Given the description of an element on the screen output the (x, y) to click on. 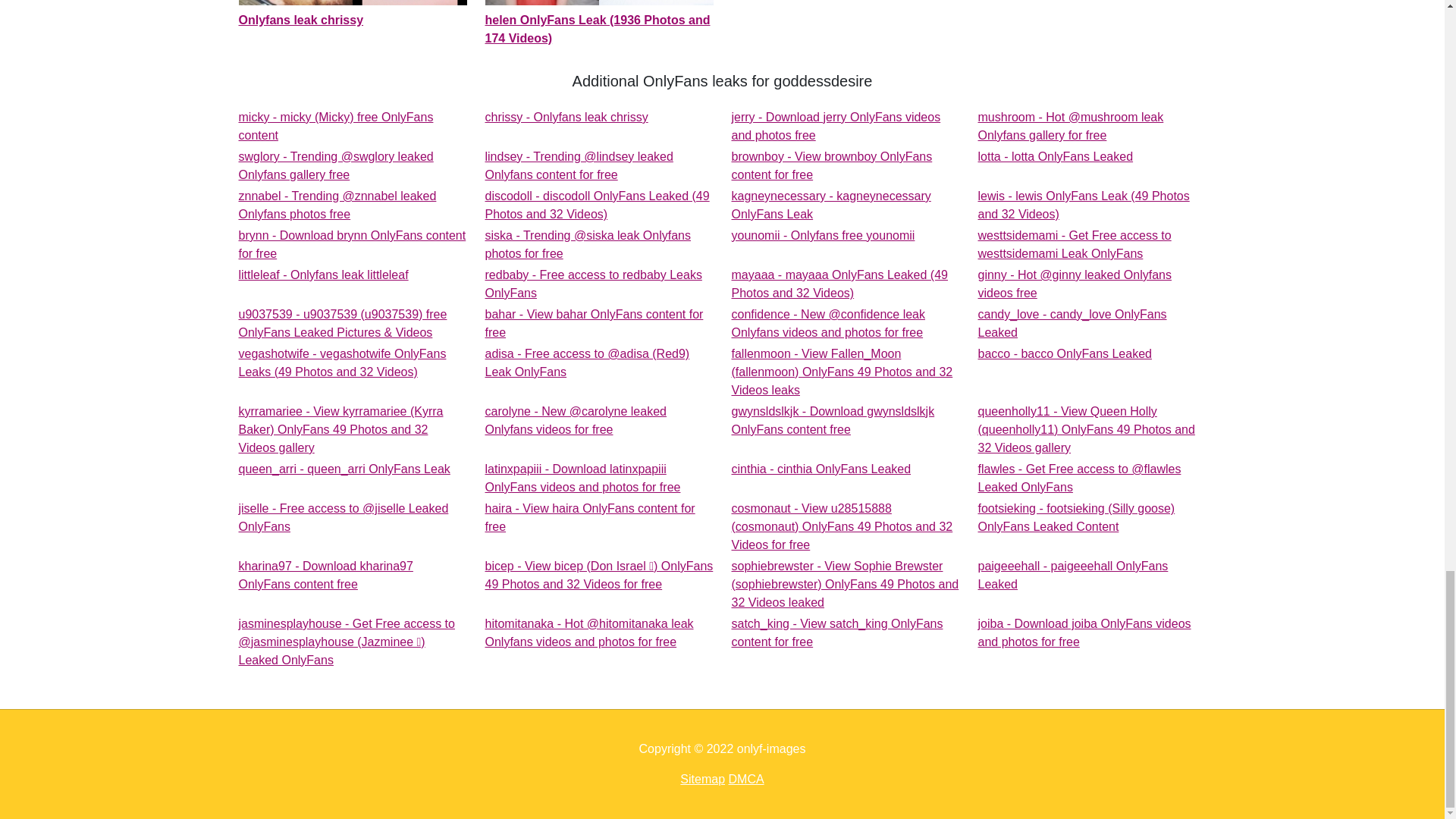
Onlyfans leak chrissy (351, 14)
lotta - lotta OnlyFans Leaked (351, 244)
jerry - Download jerry OnlyFans videos and photos free (1056, 155)
kagneynecessary - kagneynecessary OnlyFans Leak (835, 125)
chrissy - Onlyfans leak chrissy (1075, 244)
